Given the description of an element on the screen output the (x, y) to click on. 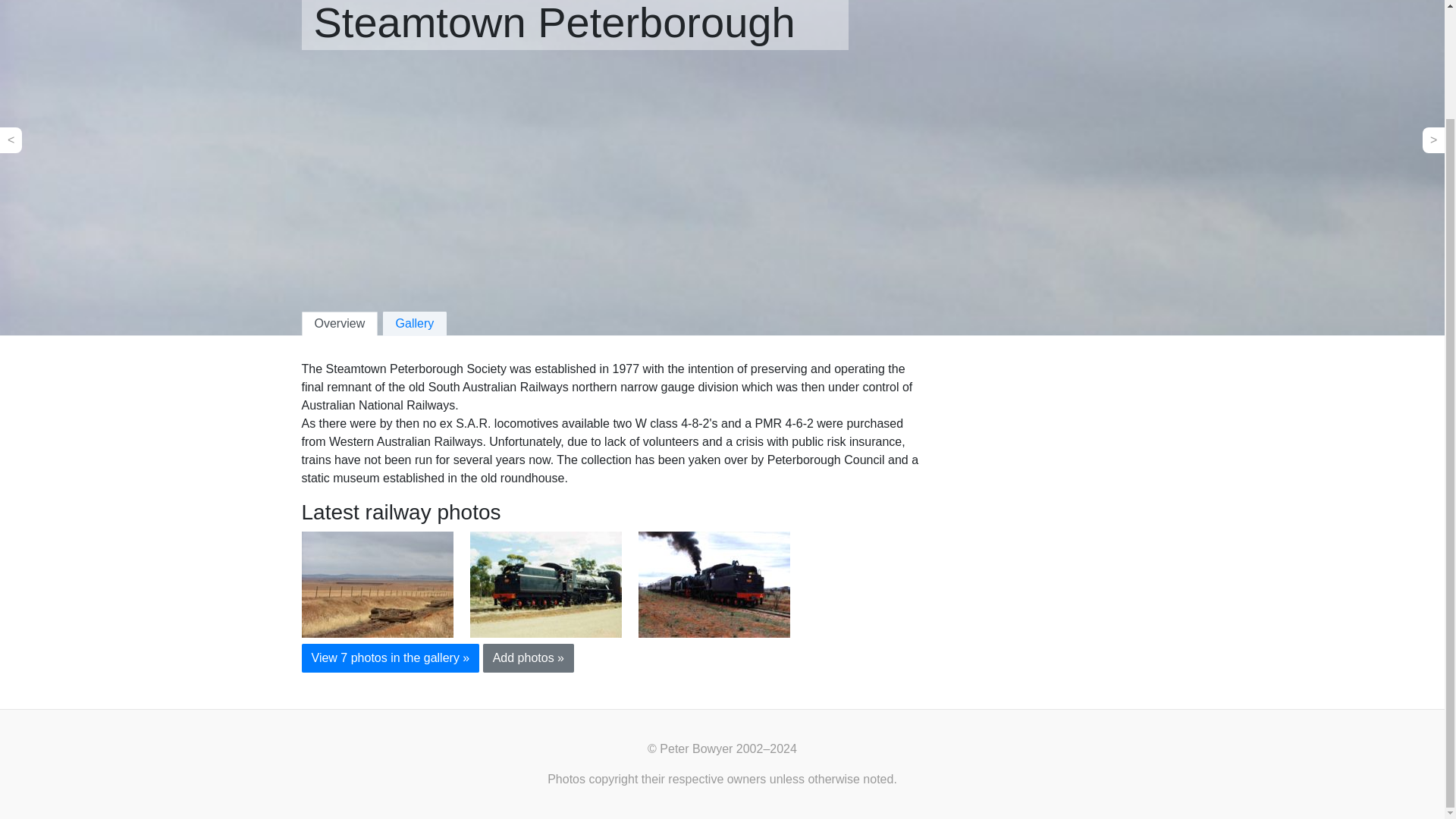
Steamtown 28 Nov 2008 (376, 583)
W901 nearing Orroroo (545, 583)
Overview (339, 323)
Gallery (414, 323)
